Given the description of an element on the screen output the (x, y) to click on. 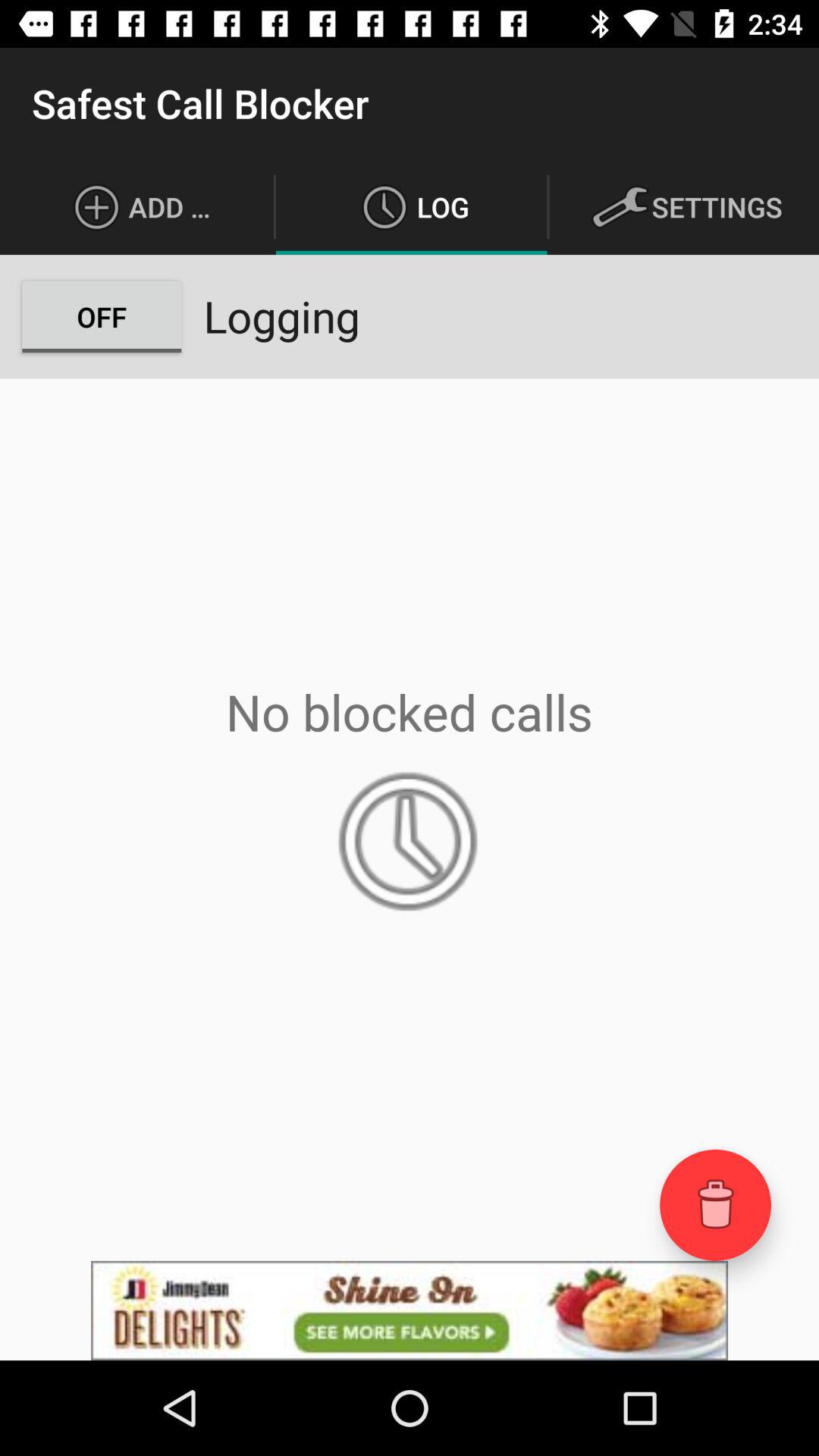
add banner (409, 1310)
